Given the description of an element on the screen output the (x, y) to click on. 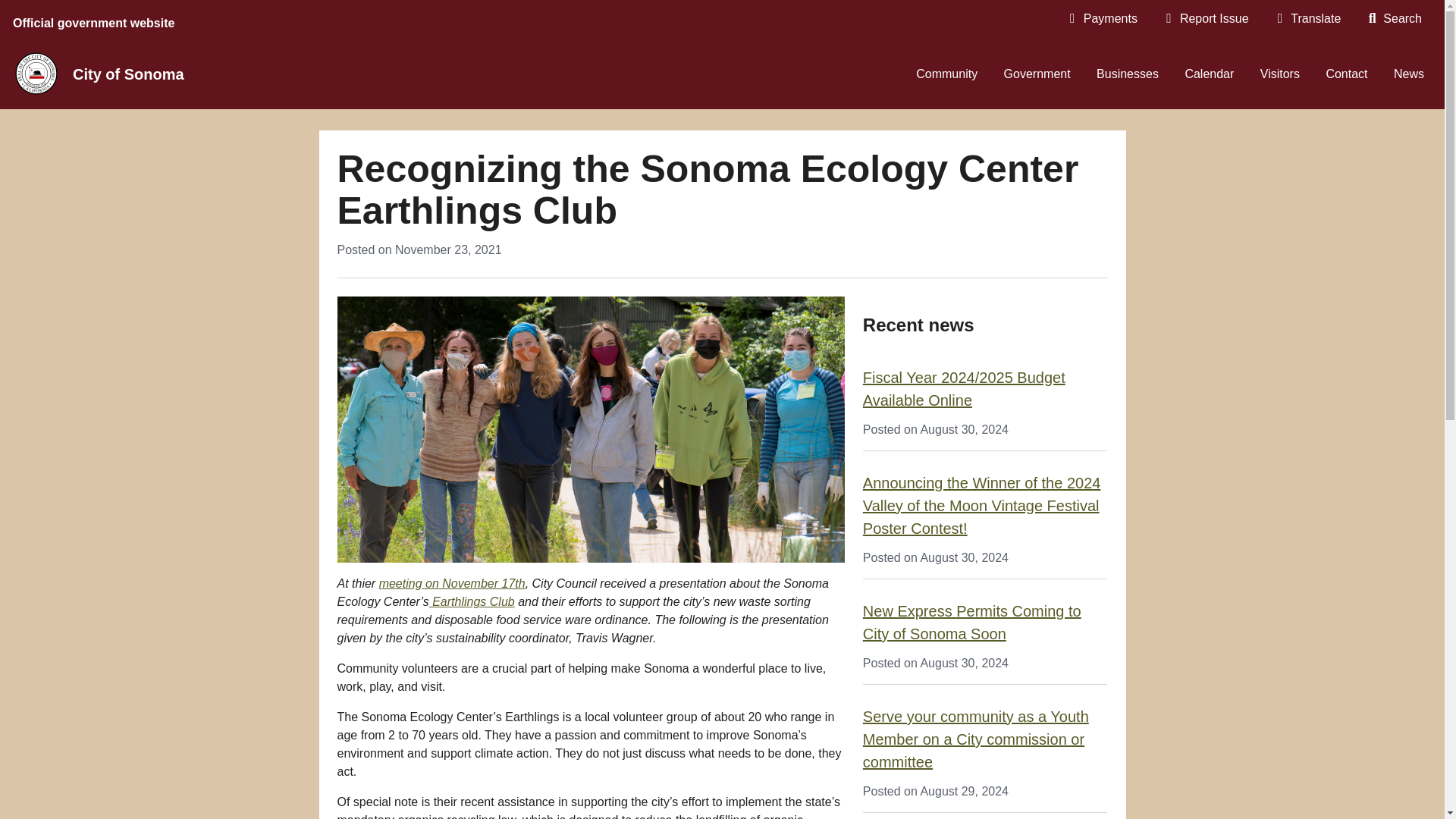
Report Issue (1206, 18)
Home (133, 74)
Search (1394, 18)
New Express Permits Coming to City of Sonoma Soon (972, 622)
Contact (1346, 74)
Translate (1308, 18)
Official government website (96, 19)
Community (946, 74)
Government (1036, 74)
